Given the description of an element on the screen output the (x, y) to click on. 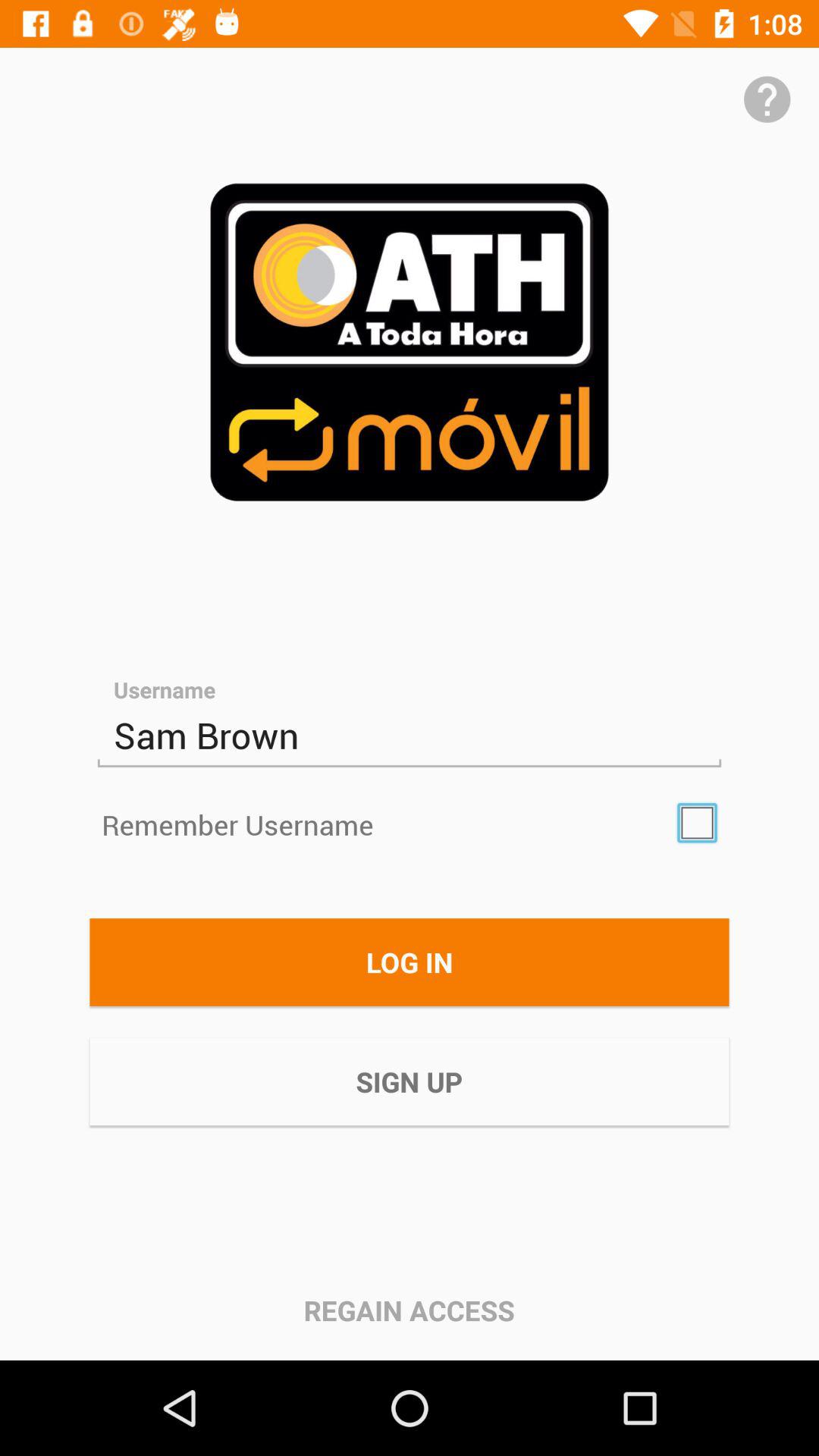
open the log in item (409, 962)
